Given the description of an element on the screen output the (x, y) to click on. 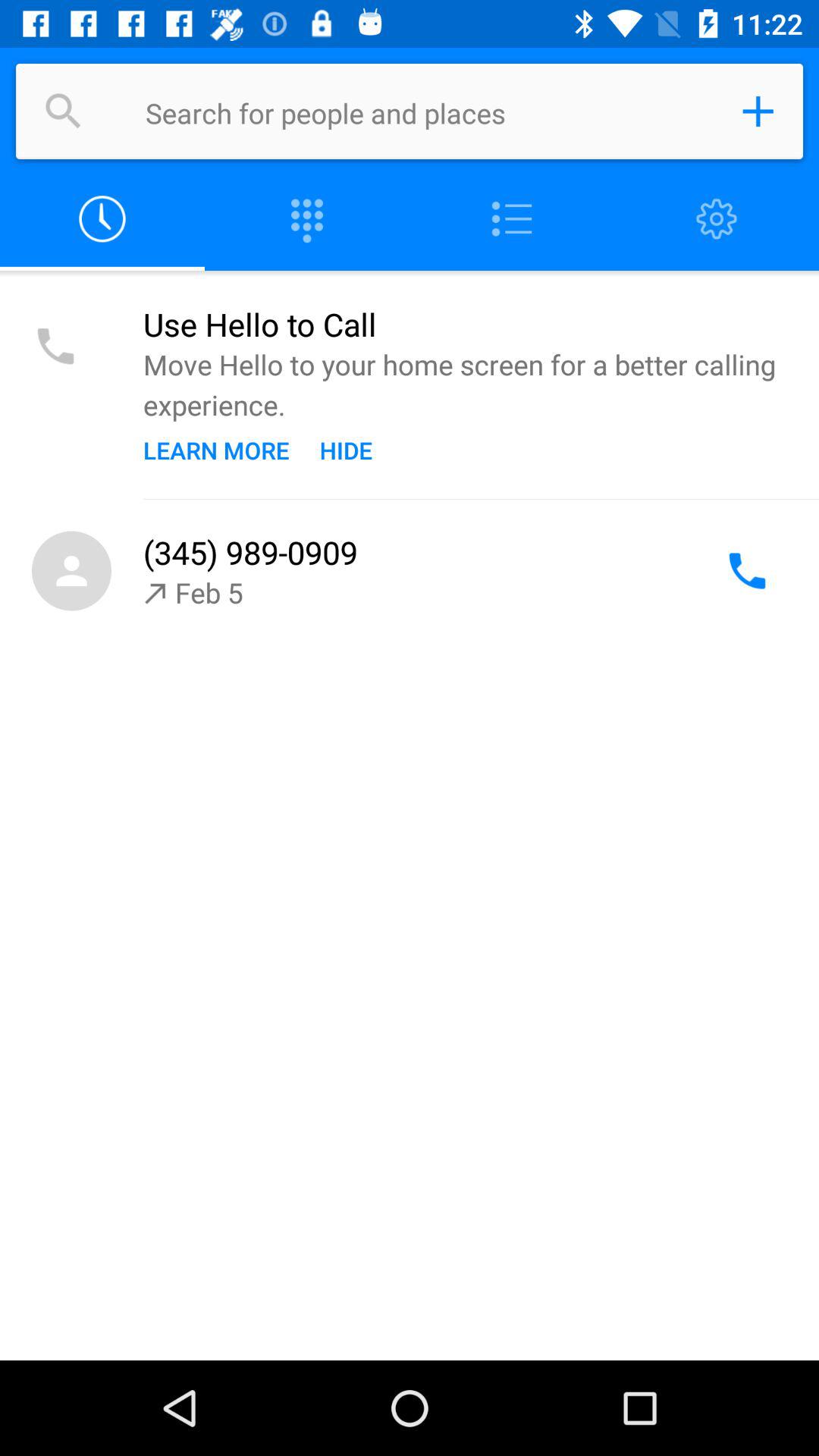
view as list (511, 219)
